Given the description of an element on the screen output the (x, y) to click on. 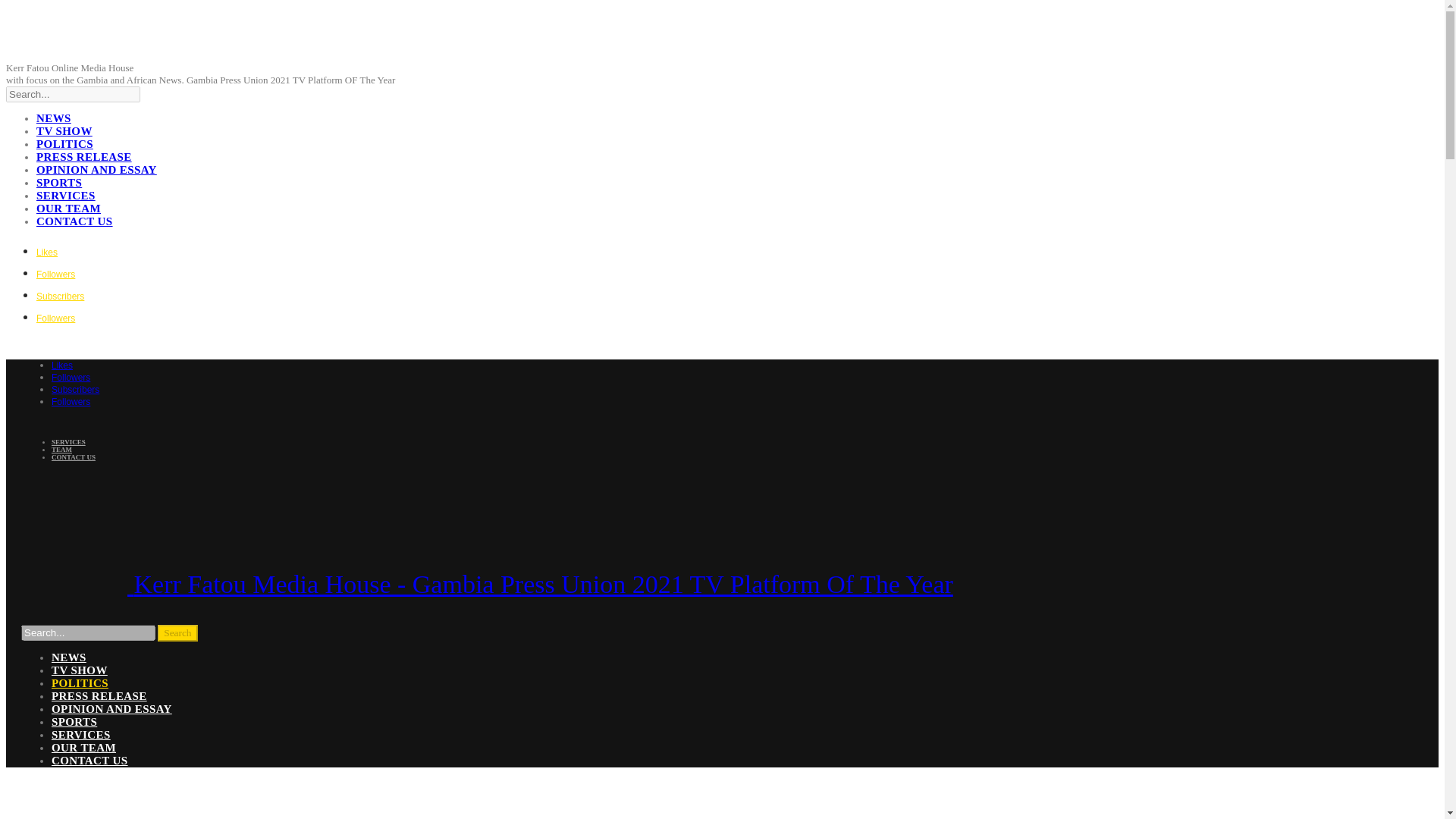
SERVICES (80, 734)
SERVICES (66, 195)
PRESS RELEASE (84, 156)
POLITICS (78, 683)
Followers (55, 317)
OUR TEAM (83, 747)
OUR TEAM (68, 208)
TV SHOW (64, 131)
CONTACT US (74, 221)
Likes (61, 365)
